Given the description of an element on the screen output the (x, y) to click on. 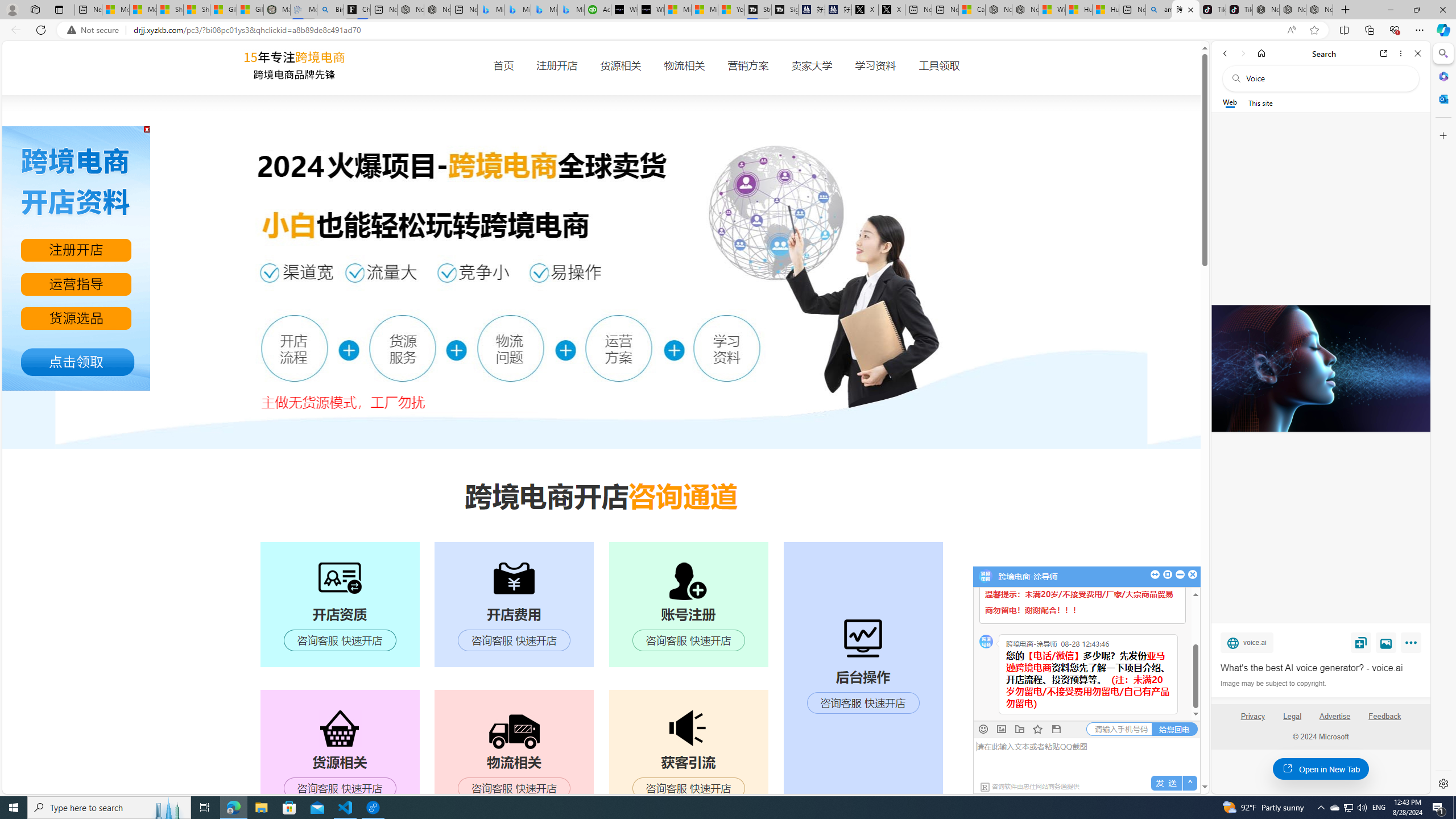
Side bar (1443, 418)
Forward (1242, 53)
